Given the description of an element on the screen output the (x, y) to click on. 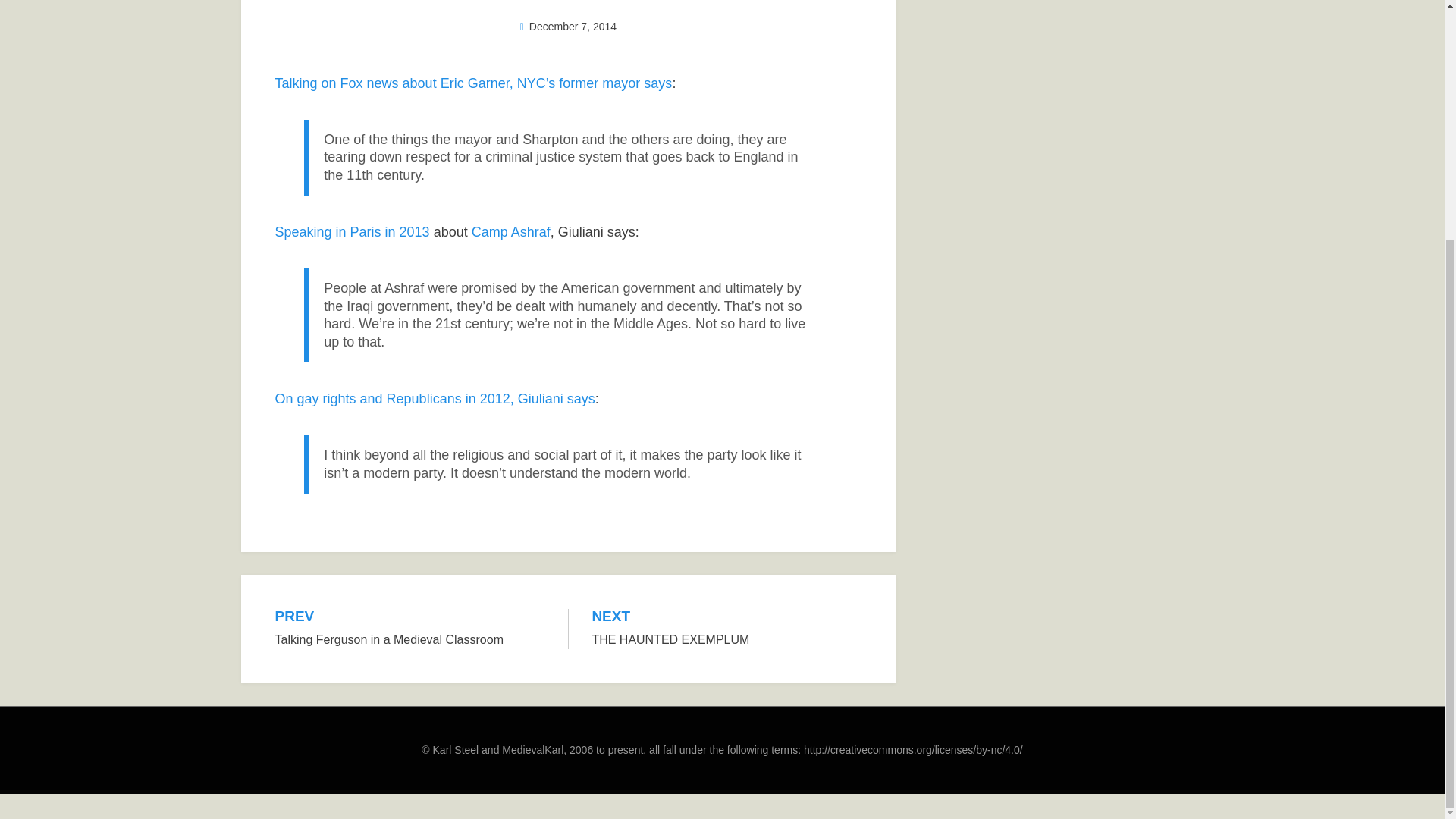
Blog (332, 526)
General Culture (387, 526)
WordPress (481, 770)
On gay rights and Republicans in 2012, Giuliani says (434, 398)
TemplatePocket (365, 770)
Speaking in Paris in 2013 (352, 231)
medieval (334, 526)
medievalism (390, 526)
